Given the description of an element on the screen output the (x, y) to click on. 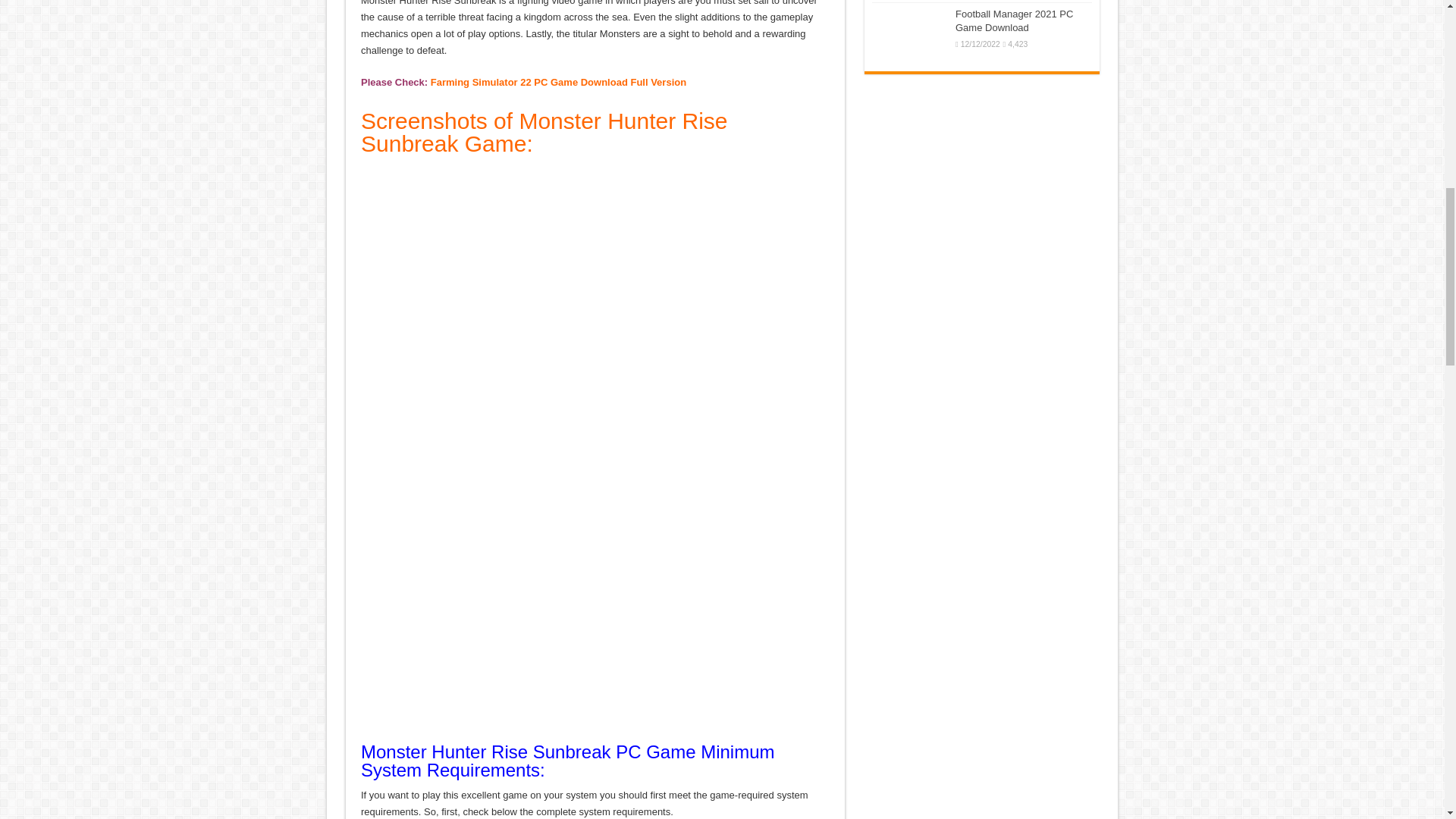
Farming Simulator 22 PC Game Download Full Version (557, 81)
